Given the description of an element on the screen output the (x, y) to click on. 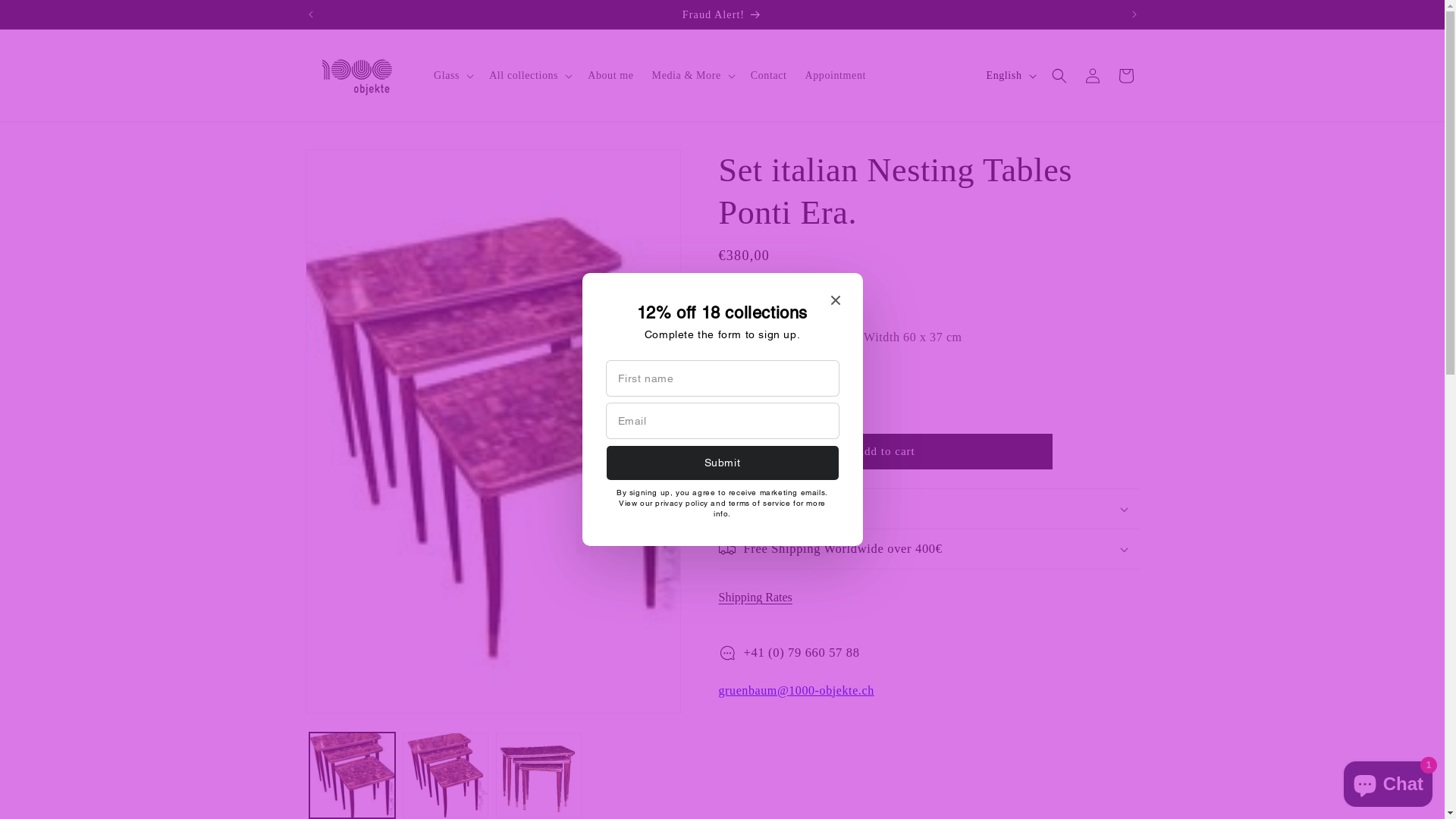
Add to cart Element type: text (885, 451)
Skip to product information Element type: text (350, 166)
Shipping Element type: text (737, 278)
Fraud Alert! Element type: text (722, 14)
Contact Element type: text (768, 75)
Appointment Element type: text (835, 75)
English Element type: text (1009, 75)
gruenbaum@1000-objekte.ch Element type: text (796, 690)
Log in Element type: text (1091, 75)
Cart Element type: text (1125, 75)
Shipping Rates Element type: text (760, 597)
Shopify online store chat Element type: hover (1388, 780)
About me Element type: text (610, 75)
